Given the description of an element on the screen output the (x, y) to click on. 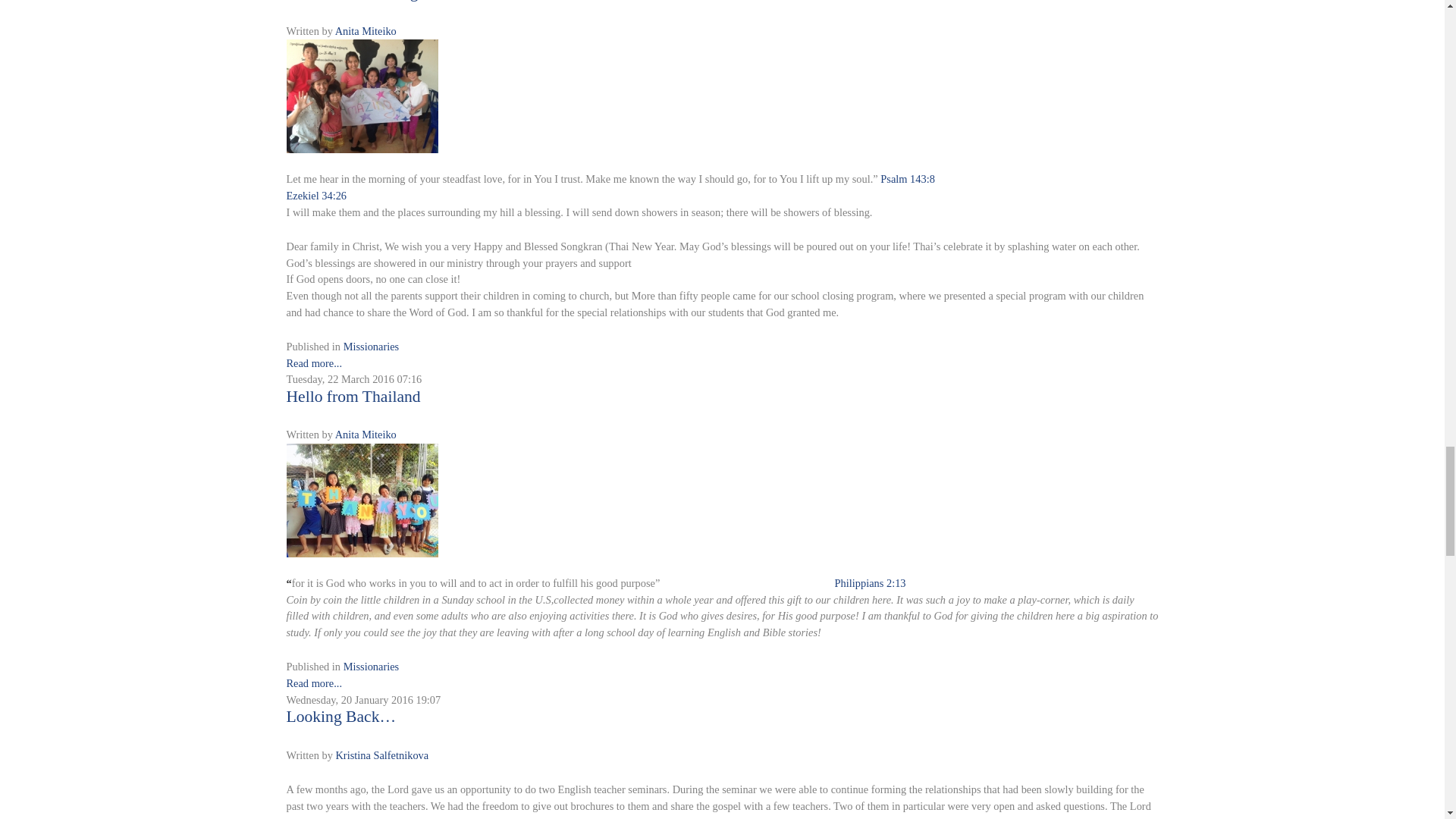
Showers of blessings! (362, 95)
Hello from Thailand (362, 499)
